Given the description of an element on the screen output the (x, y) to click on. 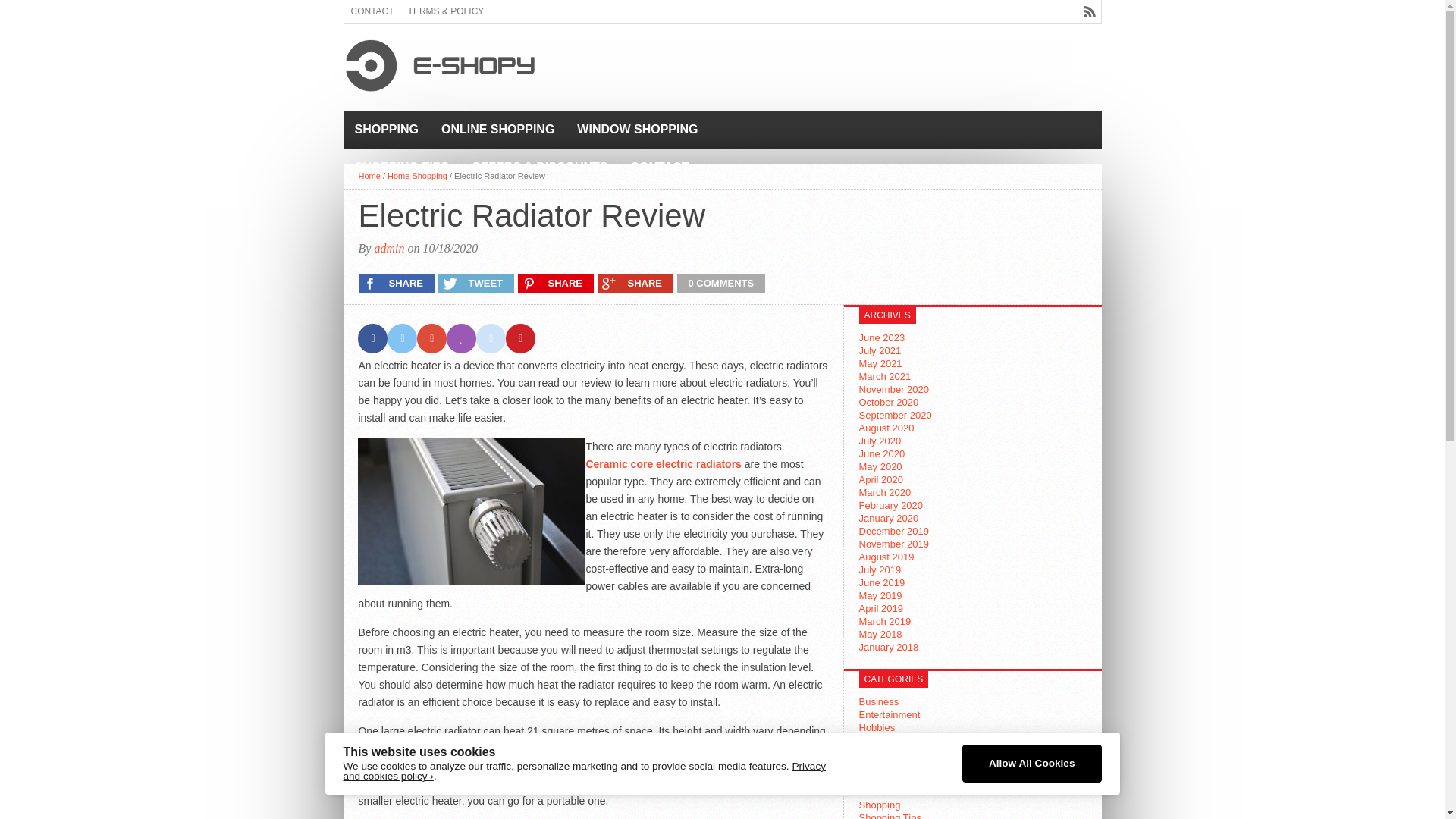
October 2020 (888, 401)
Ceramic core electric radiators (663, 463)
Like (461, 337)
SHOPPING (385, 129)
Reddit (490, 337)
Home Shopping (416, 175)
May 2021 (880, 363)
Pinterest (520, 337)
July 2020 (880, 440)
Facebook (372, 337)
March 2021 (885, 376)
July 2021 (880, 350)
CONTACT (660, 167)
June 2020 (881, 453)
ONLINE SHOPPING (497, 129)
